Given the description of an element on the screen output the (x, y) to click on. 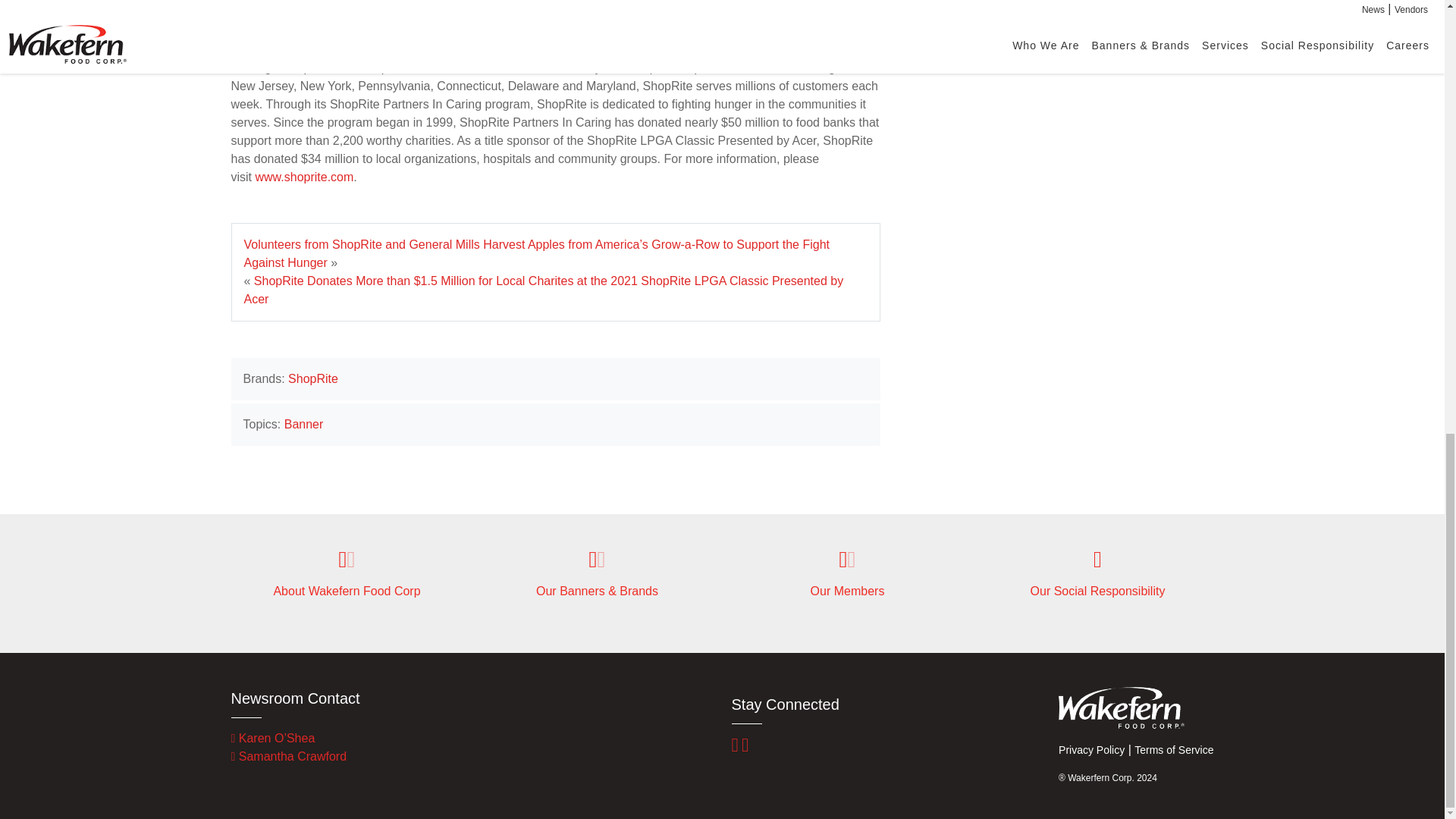
About Wakefern Food Corp (346, 573)
Samantha Crawford (288, 756)
Our Members (846, 573)
Banner (303, 423)
Our Social Responsibility (1096, 573)
ShopRite (312, 378)
www.shoprite.com (303, 176)
